Given the description of an element on the screen output the (x, y) to click on. 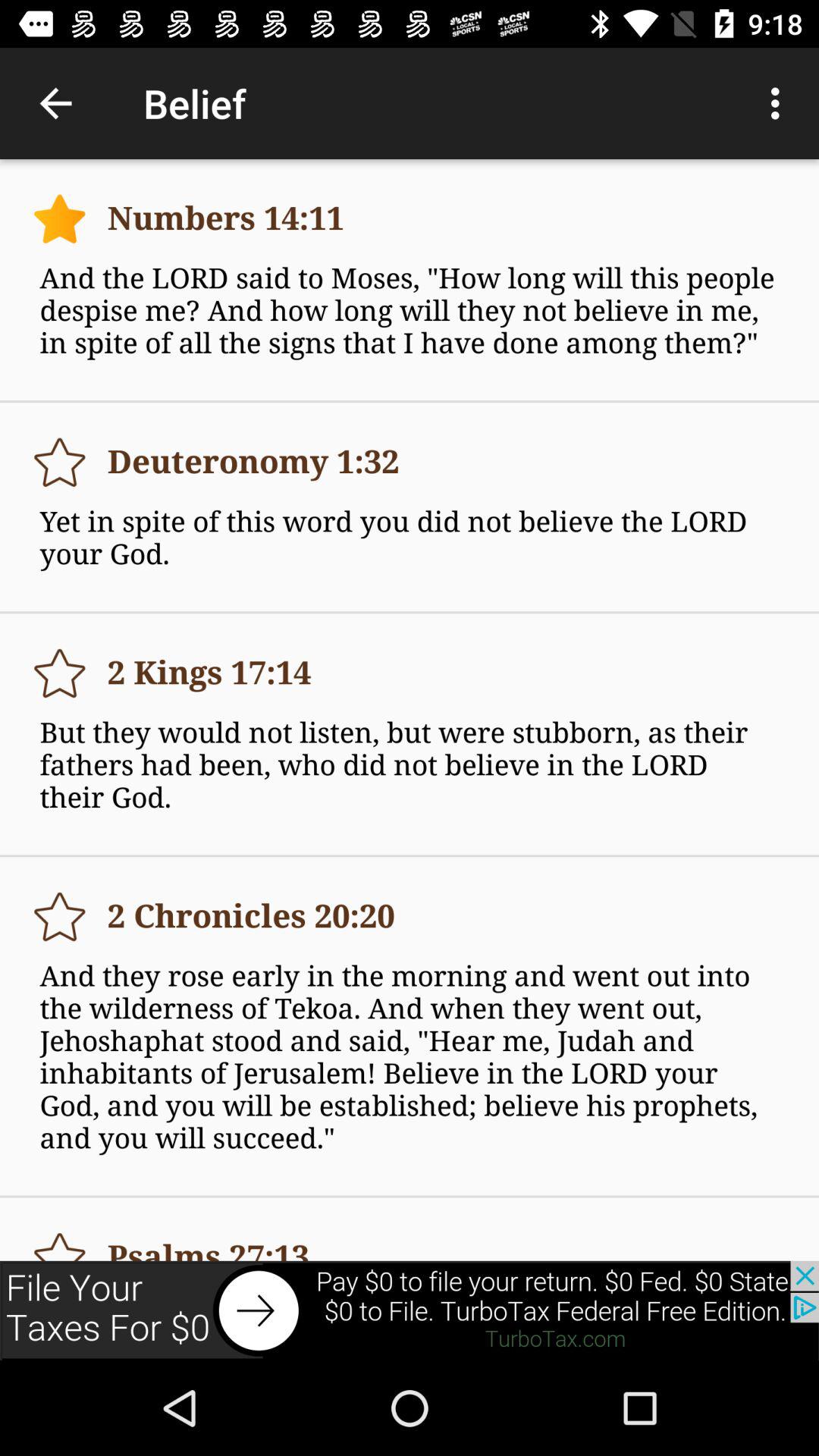
add to favorites (59, 462)
